Given the description of an element on the screen output the (x, y) to click on. 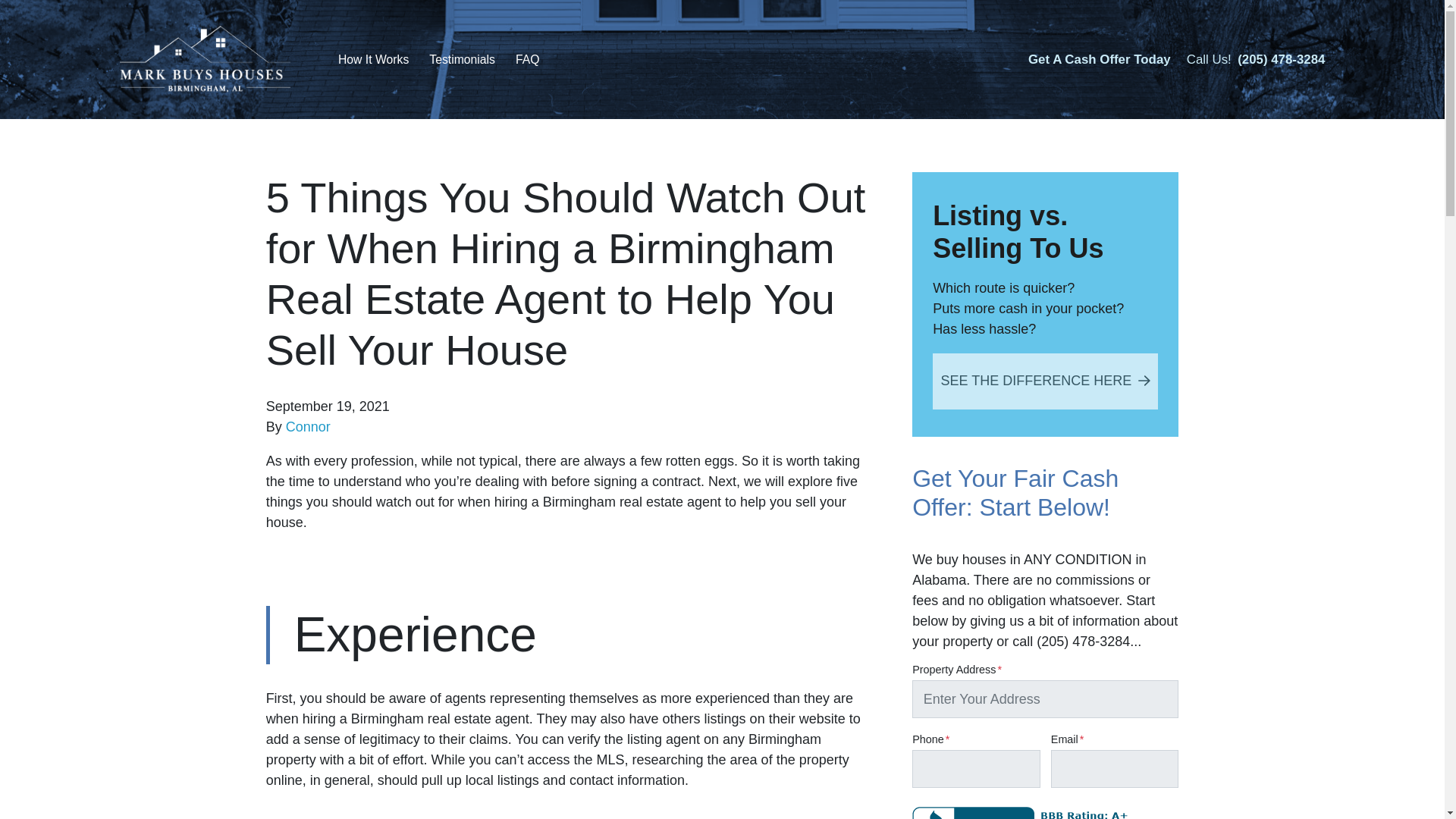
How It Works (373, 59)
Get A Cash Offer Today (1098, 59)
Mark Buys Houses, Real Estate Investing, Birmingham, AL (1023, 812)
SEE THE DIFFERENCE HERE (1045, 380)
Connor (307, 426)
Testimonials (462, 59)
